Given the description of an element on the screen output the (x, y) to click on. 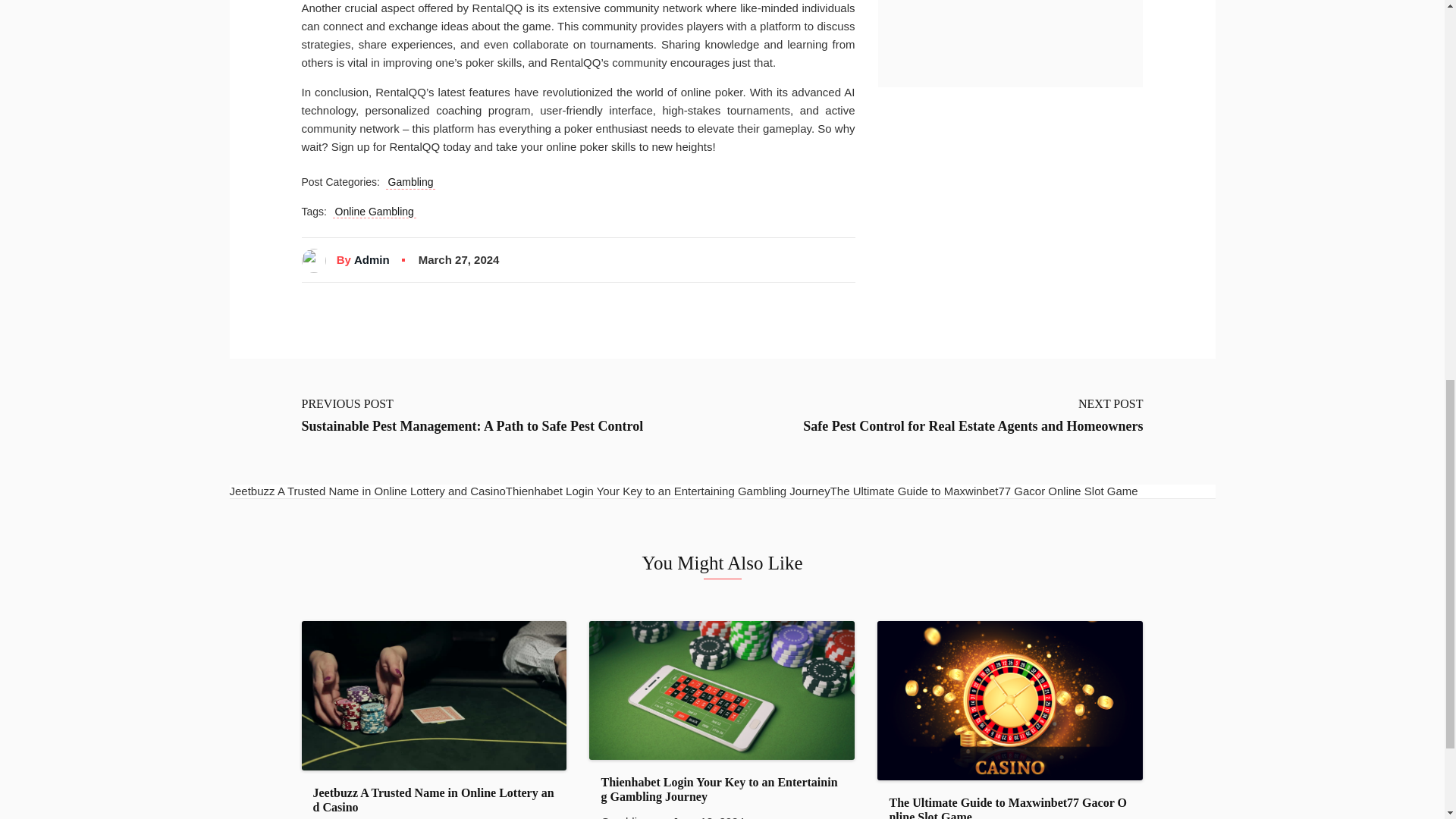
Online Gambling (374, 212)
Gambling (410, 182)
Admin (371, 259)
Jeetbuzz A Trusted Name in Online Lottery and Casino (433, 799)
Sustainable Pest Management: A Path to Safe Pest Control (472, 426)
Safe Pest Control for Real Estate Agents and Homeowners (972, 426)
